Given the description of an element on the screen output the (x, y) to click on. 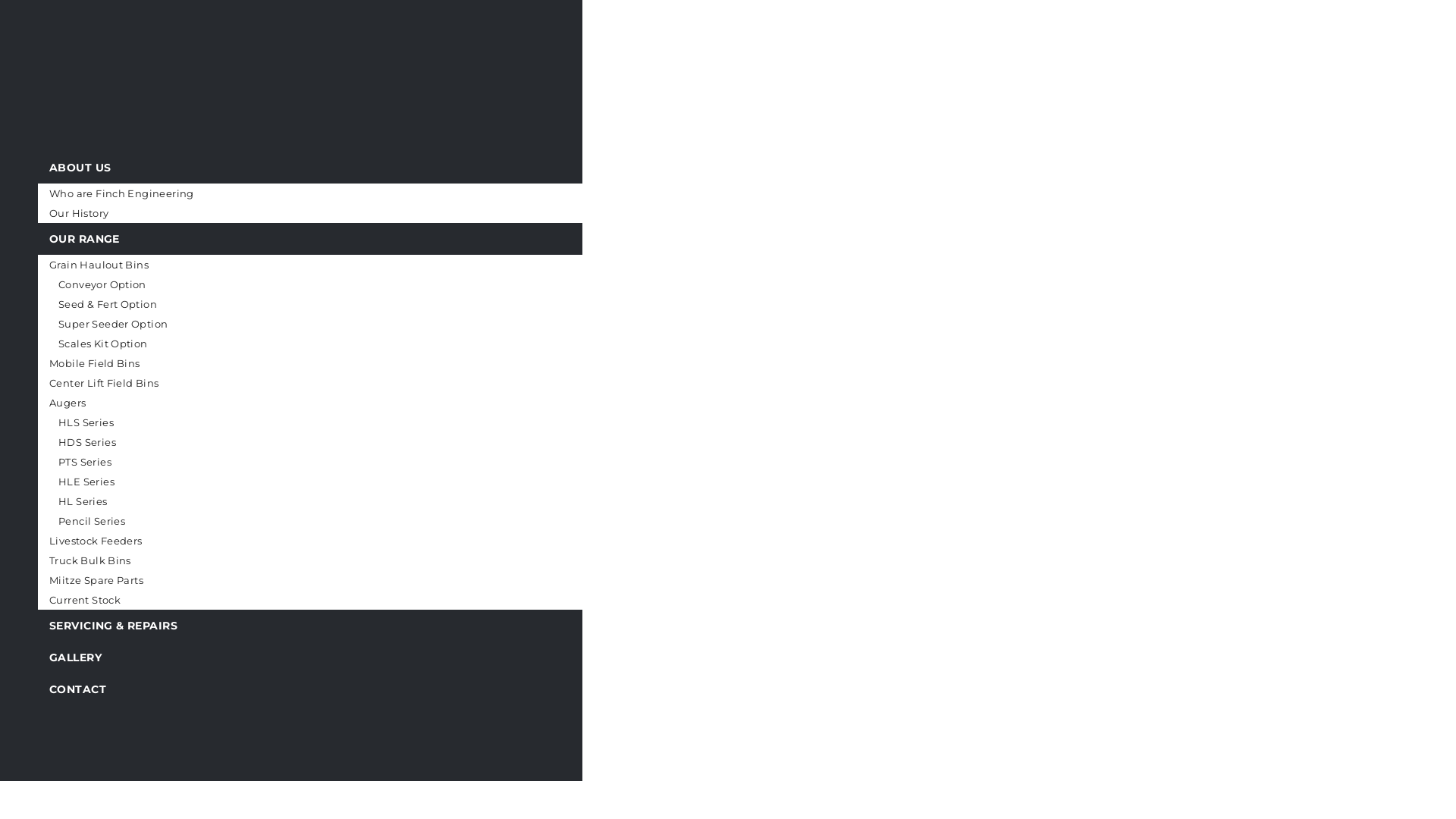
Super Seeder Option Element type: text (338, 323)
Miitze Spare Parts Element type: text (328, 579)
Scales Kit Option Element type: text (338, 343)
Truck Bulk Bins Element type: text (328, 560)
Our History Element type: text (328, 212)
Pencil Series Element type: text (338, 520)
Center Lift Field Bins Element type: text (328, 382)
HDS Series Element type: text (338, 441)
Mobile Field Bins Element type: text (328, 363)
PTS Series Element type: text (338, 461)
HL Series Element type: text (338, 501)
ABOUT US Element type: text (328, 167)
OUR RANGE Element type: text (328, 238)
GALLERY Element type: text (328, 657)
HLE Series Element type: text (338, 481)
Current Stock Element type: text (328, 599)
Conveyor Option Element type: text (338, 284)
Augers Element type: text (328, 402)
Seed & Fert Option Element type: text (338, 303)
CONTACT Element type: text (328, 689)
Who are Finch Engineering Element type: text (328, 193)
SERVICING & REPAIRS Element type: text (328, 625)
Grain Haulout Bins Element type: text (328, 264)
HLS Series Element type: text (338, 422)
Livestock Feeders Element type: text (328, 540)
